Given the description of an element on the screen output the (x, y) to click on. 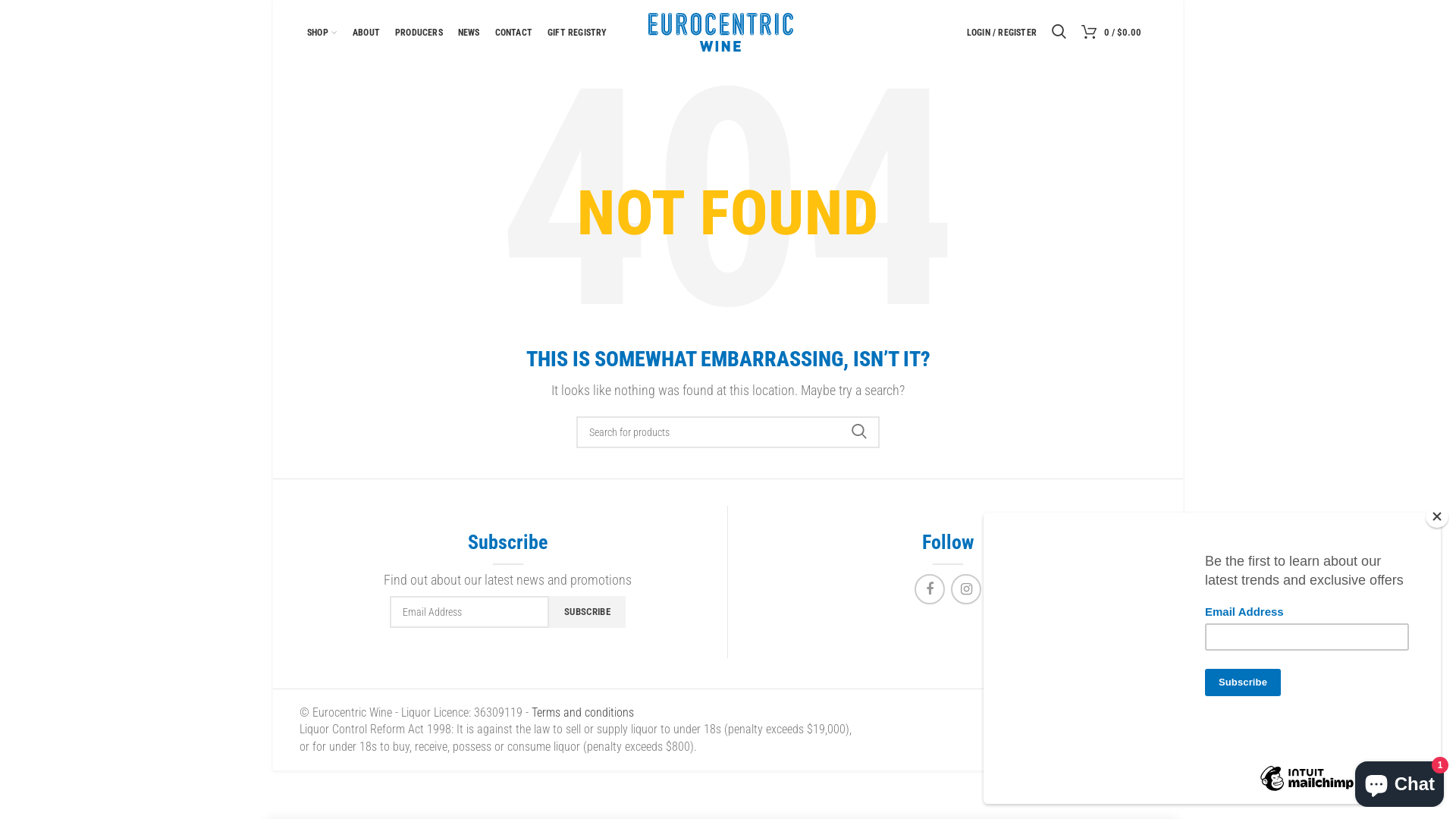
NEWS Element type: text (468, 31)
Facebook Element type: text (929, 589)
SUBSCRIBE Element type: text (587, 611)
Shopify online store chat Element type: hover (1399, 780)
Instagram Element type: text (965, 589)
ABOUT Element type: text (366, 31)
LOGIN / REGISTER Element type: text (1001, 31)
SEARCH Element type: text (859, 432)
GIFT REGISTRY Element type: text (577, 31)
PRODUCERS Element type: text (418, 31)
CONTACT Element type: text (513, 31)
0 / $0.00 Element type: text (1110, 31)
SHOP Element type: text (322, 31)
Terms and conditions Element type: text (582, 712)
